Given the description of an element on the screen output the (x, y) to click on. 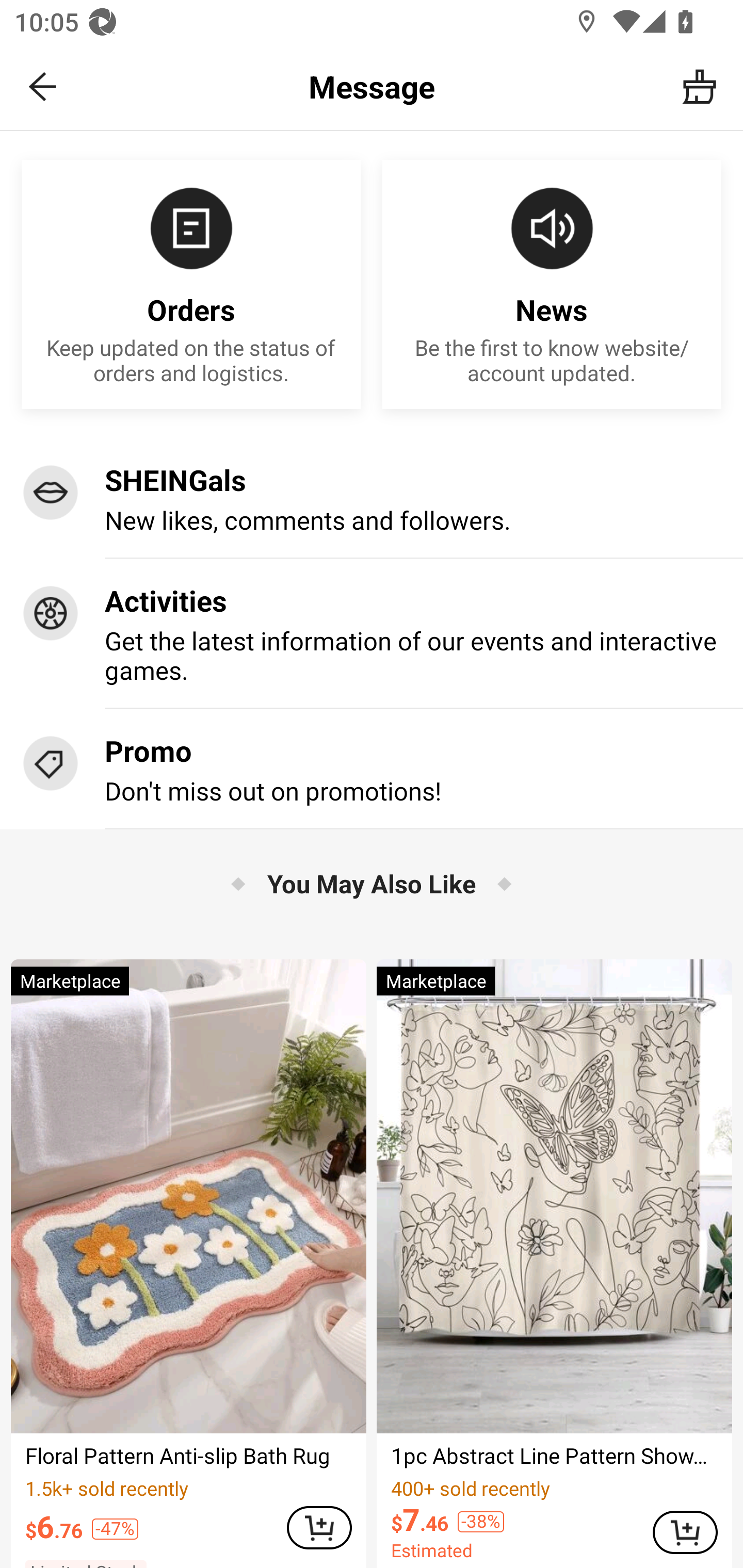
Navigate up (43, 86)
News Be the first to know website/account updated. (551, 284)
SHEINGals New likes, comments and followers. (371, 497)
Promo Don't miss out on promotions! (371, 768)
You May Also Like (371, 883)
ADD TO CART (319, 1527)
ADD TO CART (684, 1531)
